Given the description of an element on the screen output the (x, y) to click on. 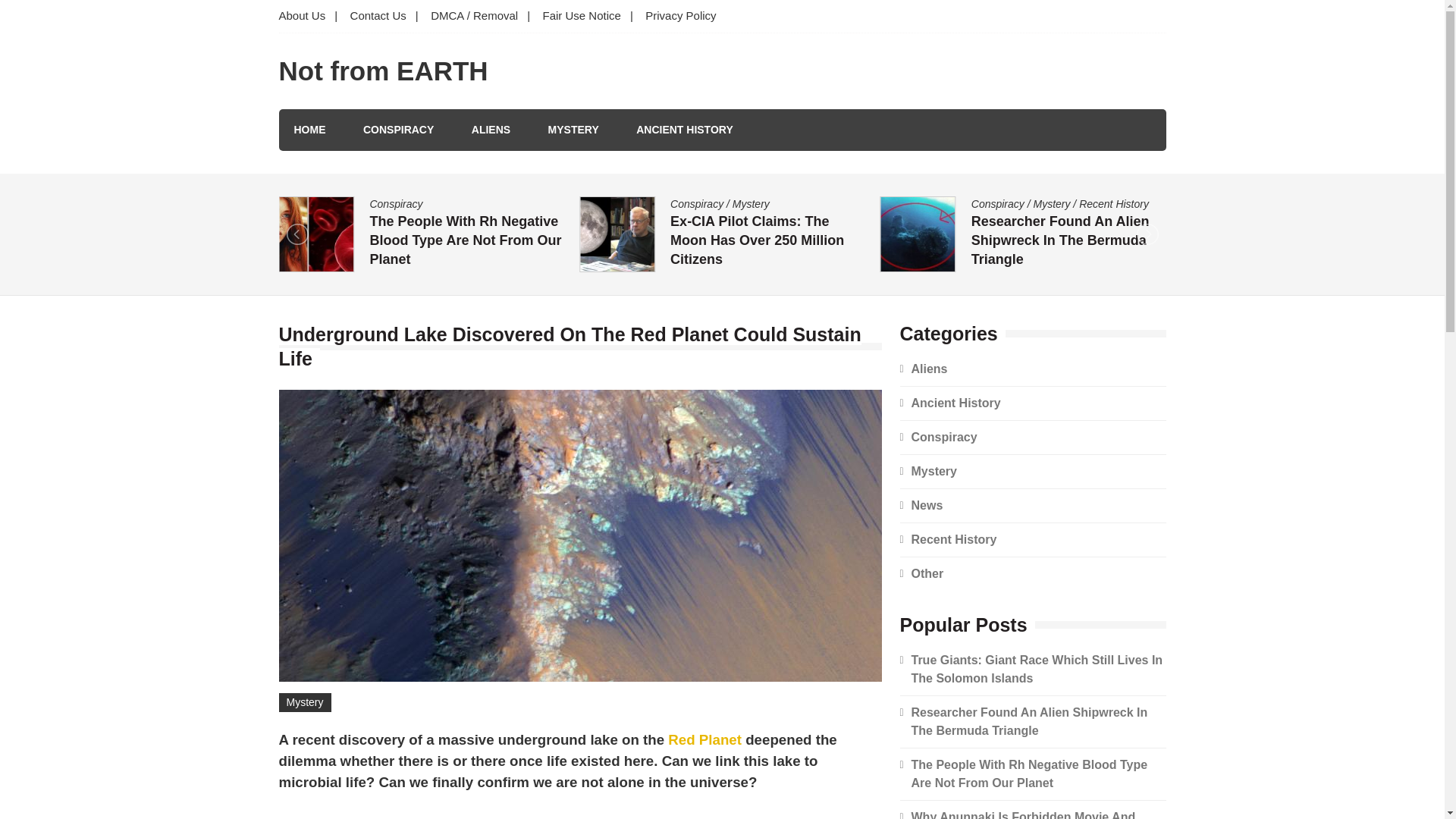
Conspiracy (998, 203)
Ex-CIA Pilot Claims: The Moon Has Over 250 Million Citizens (756, 239)
Conspiracy (395, 203)
About Us (306, 16)
Not from EARTH (383, 71)
Privacy Policy (680, 16)
Fair Use Notice (582, 16)
Recent History (1113, 203)
Mystery (751, 203)
